Given the description of an element on the screen output the (x, y) to click on. 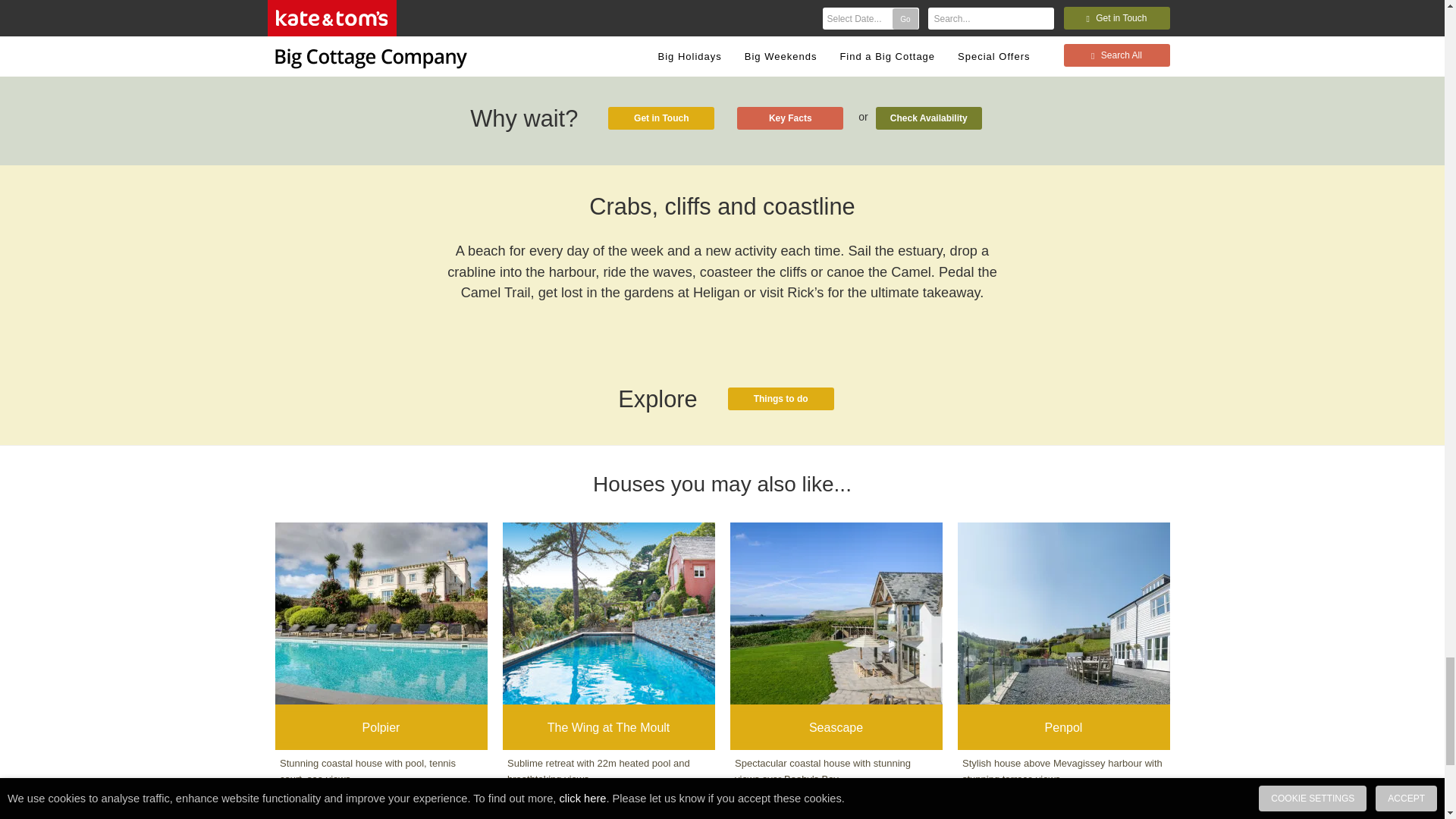
Get in Touch (661, 118)
Things to do (781, 398)
Check Availability (928, 118)
Key Facts (789, 118)
